Given the description of an element on the screen output the (x, y) to click on. 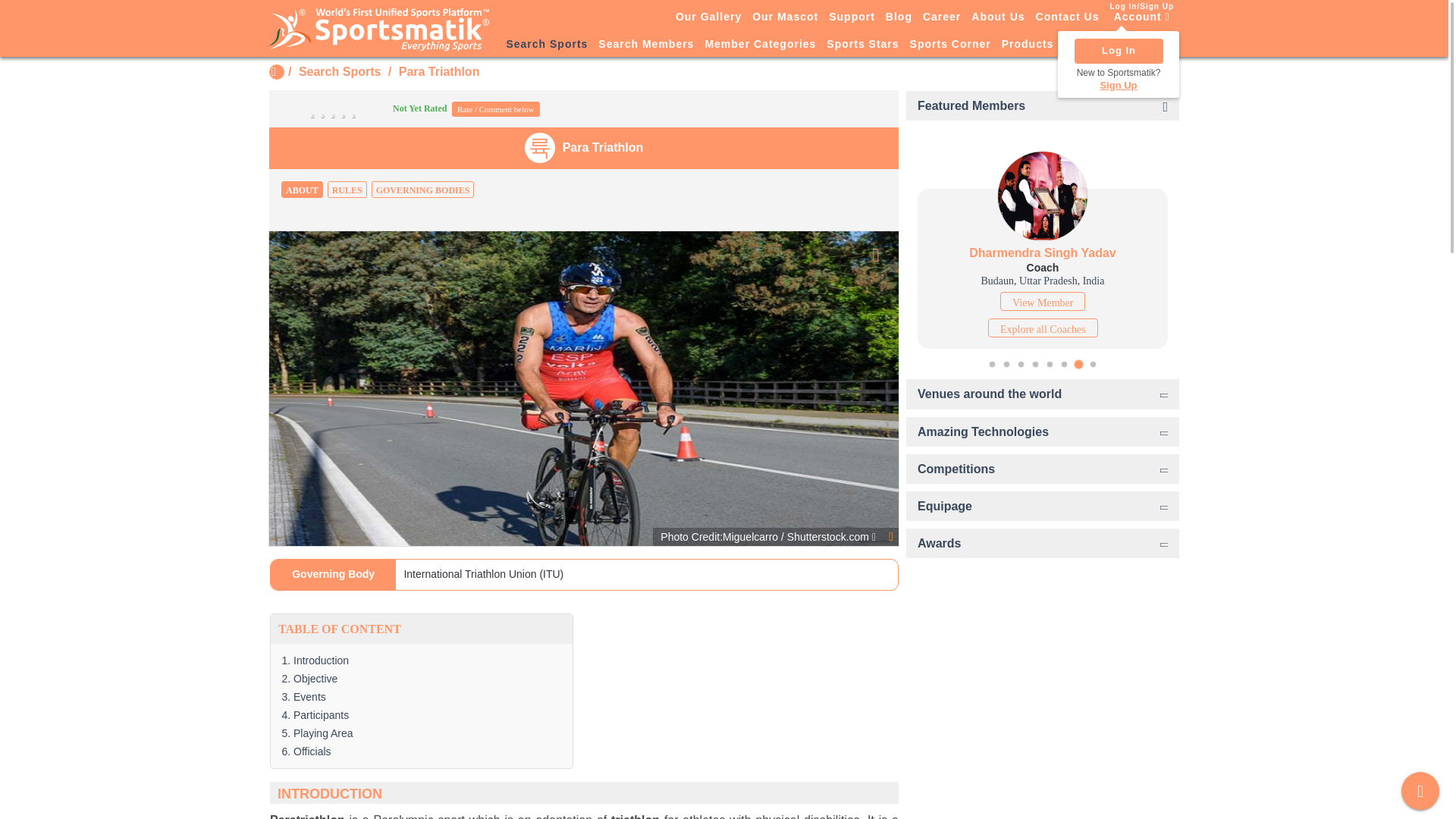
Products (1027, 44)
Blog (898, 15)
Search Members (645, 44)
Sports Corner (949, 44)
Member Categories (759, 44)
Our Gallery (707, 15)
Career (941, 15)
Not Yet Rated (366, 108)
Log In (1117, 50)
Our Mascot (785, 15)
Sports Stars (862, 44)
Search Sports (339, 71)
Support (852, 15)
Sign Up (1118, 85)
Sports Jobs (1098, 44)
